Given the description of an element on the screen output the (x, y) to click on. 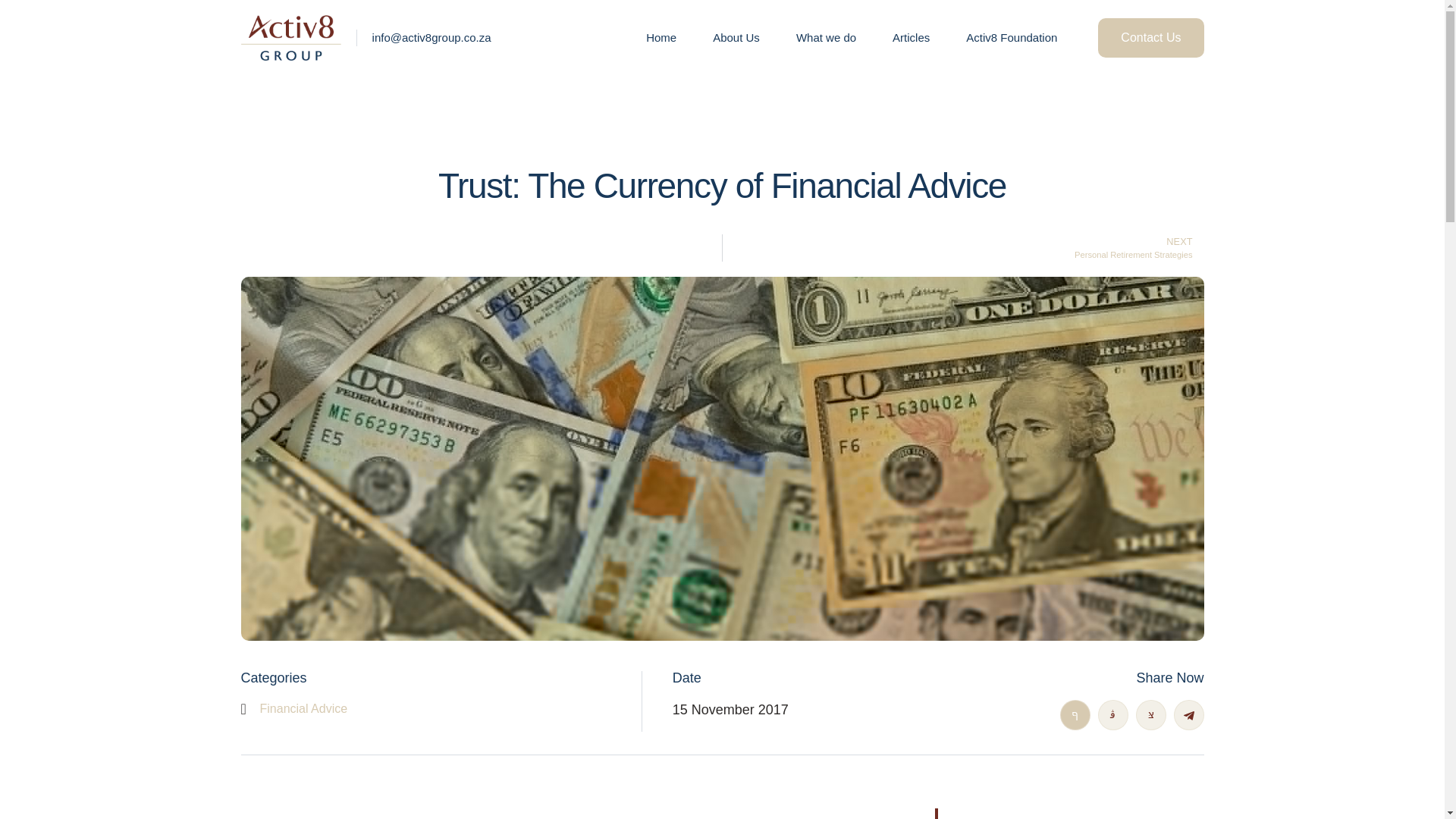
Activ8 Foundation (1010, 37)
What we do (825, 37)
Financial Advice (963, 247)
About Us (303, 707)
Home (735, 37)
Contact Us (661, 37)
Articles (1150, 37)
